Given the description of an element on the screen output the (x, y) to click on. 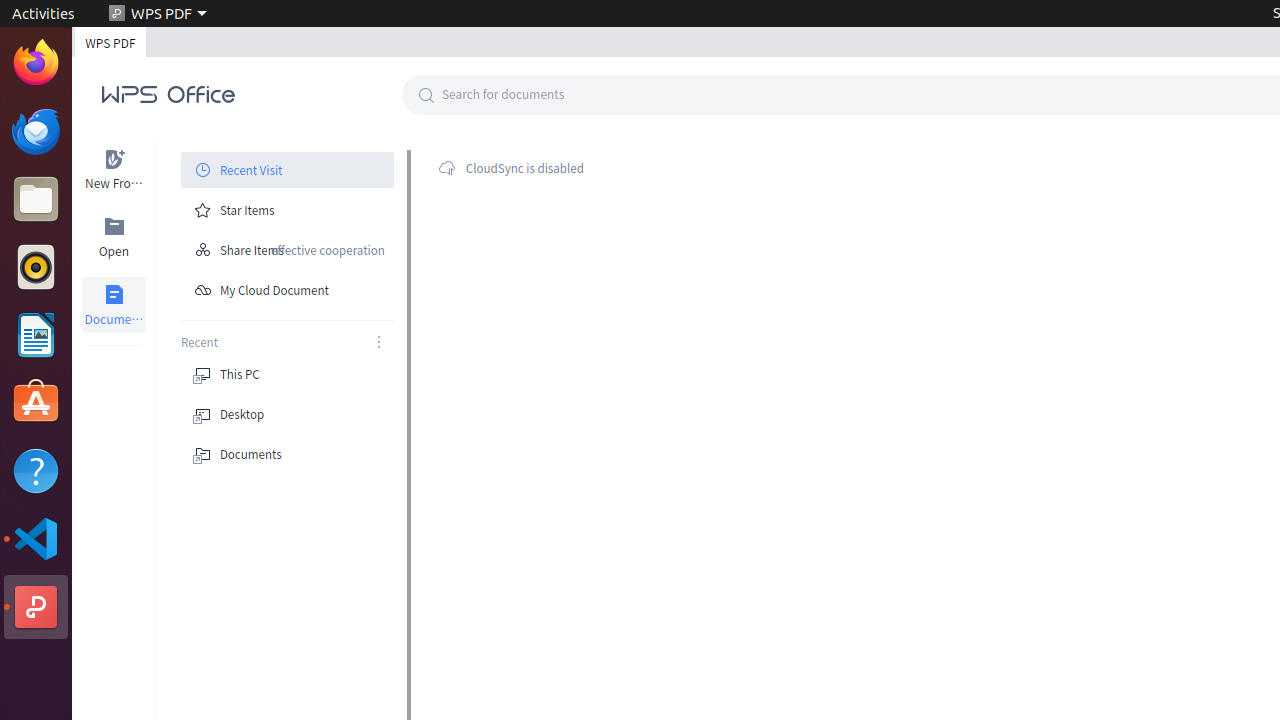
WPS PDF Element type: push-button (36, 607)
